Given the description of an element on the screen output the (x, y) to click on. 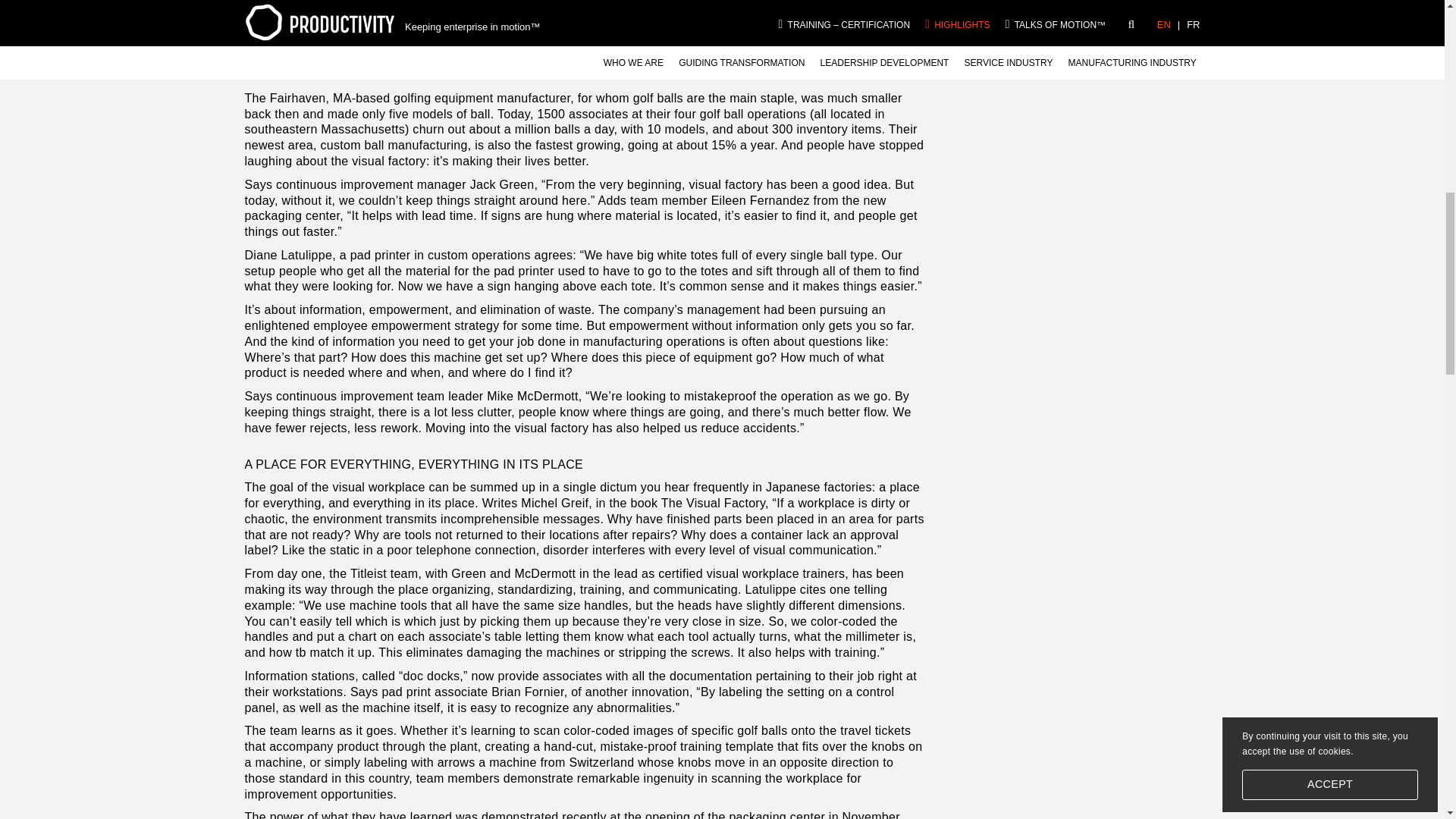
Back to page top (1396, 26)
